Given the description of an element on the screen output the (x, y) to click on. 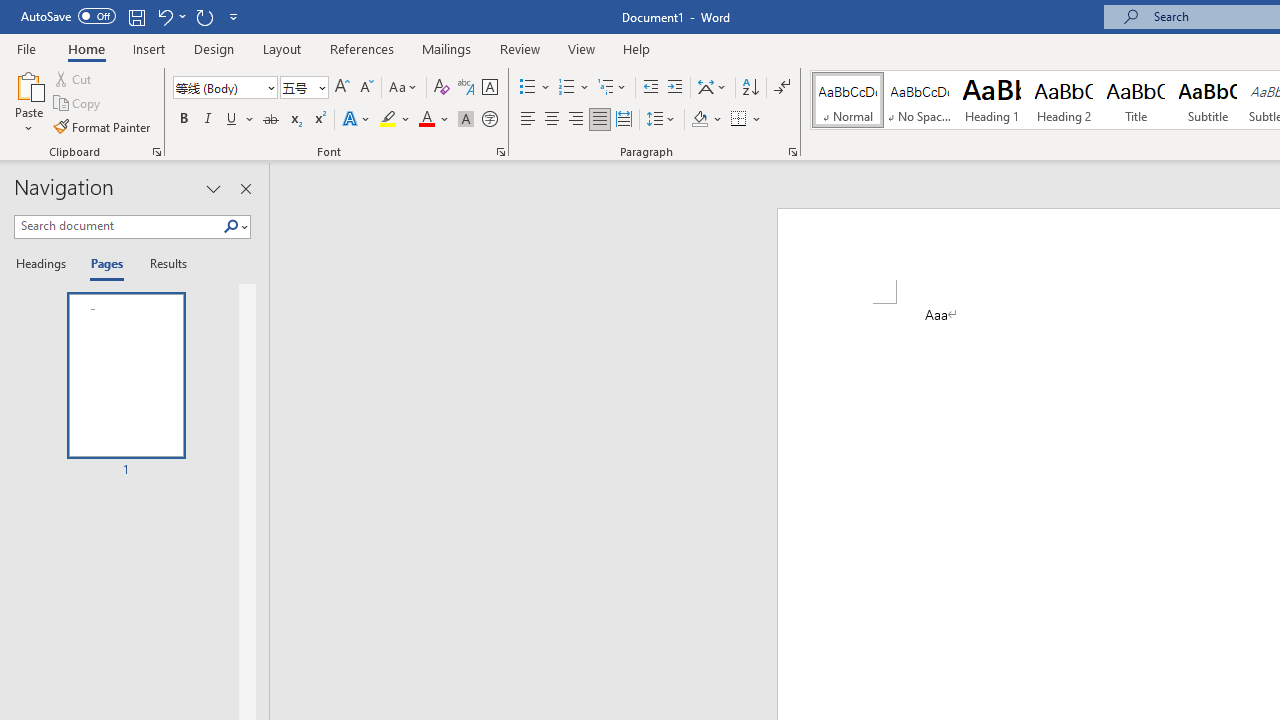
Font Color Red (426, 119)
